Given the description of an element on the screen output the (x, y) to click on. 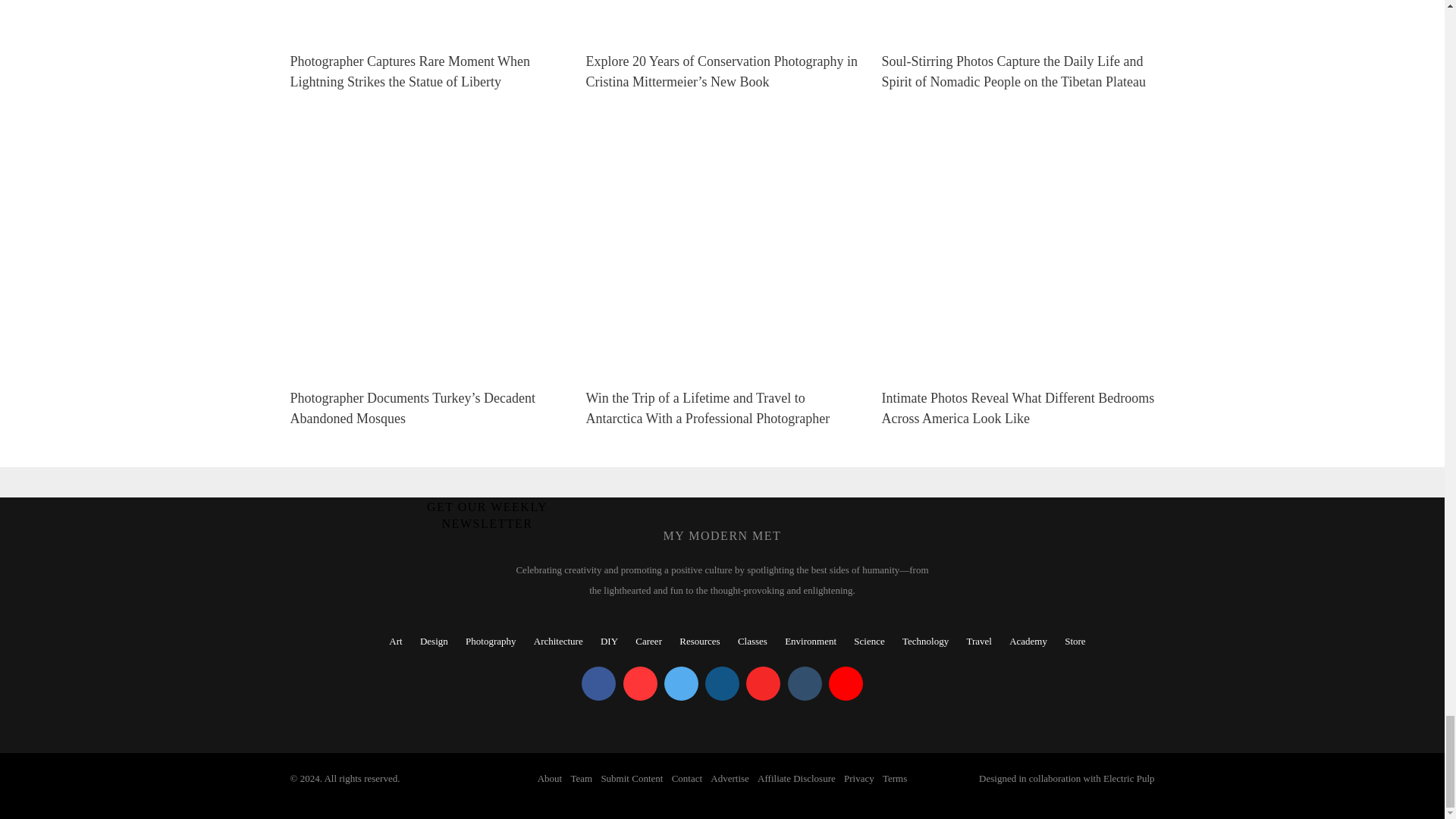
My Modern Met on Twitter (680, 683)
My Modern Met on Pinterest (640, 683)
My Modern Met on Instagram (721, 683)
My Modern Met on Tumblr (804, 683)
My Modern Met on YouTube (845, 683)
My Modern Met on Facebook (597, 683)
